Given the description of an element on the screen output the (x, y) to click on. 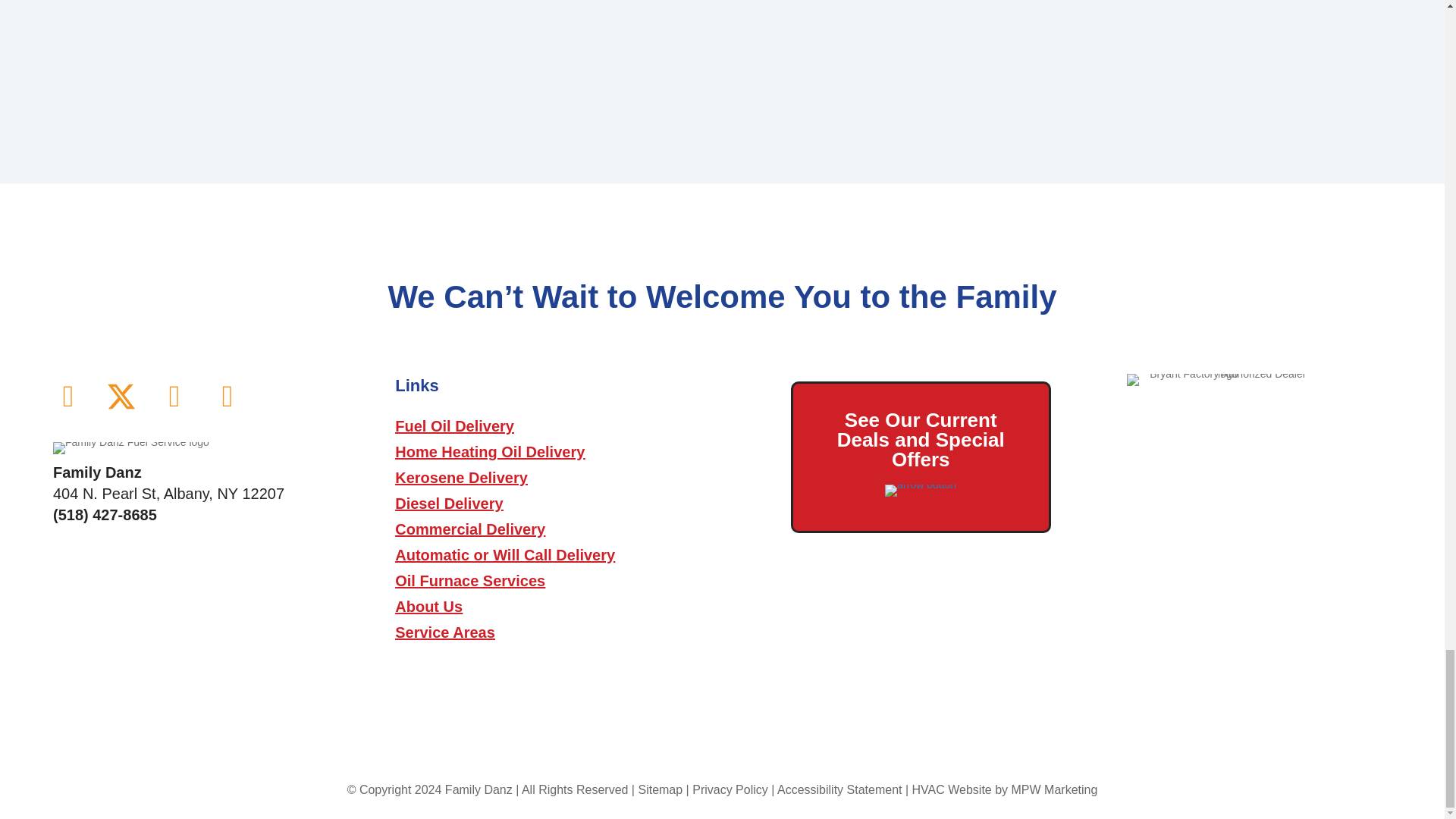
Google Plus (227, 396)
Facebook (67, 396)
Instagram (173, 396)
